Given the description of an element on the screen output the (x, y) to click on. 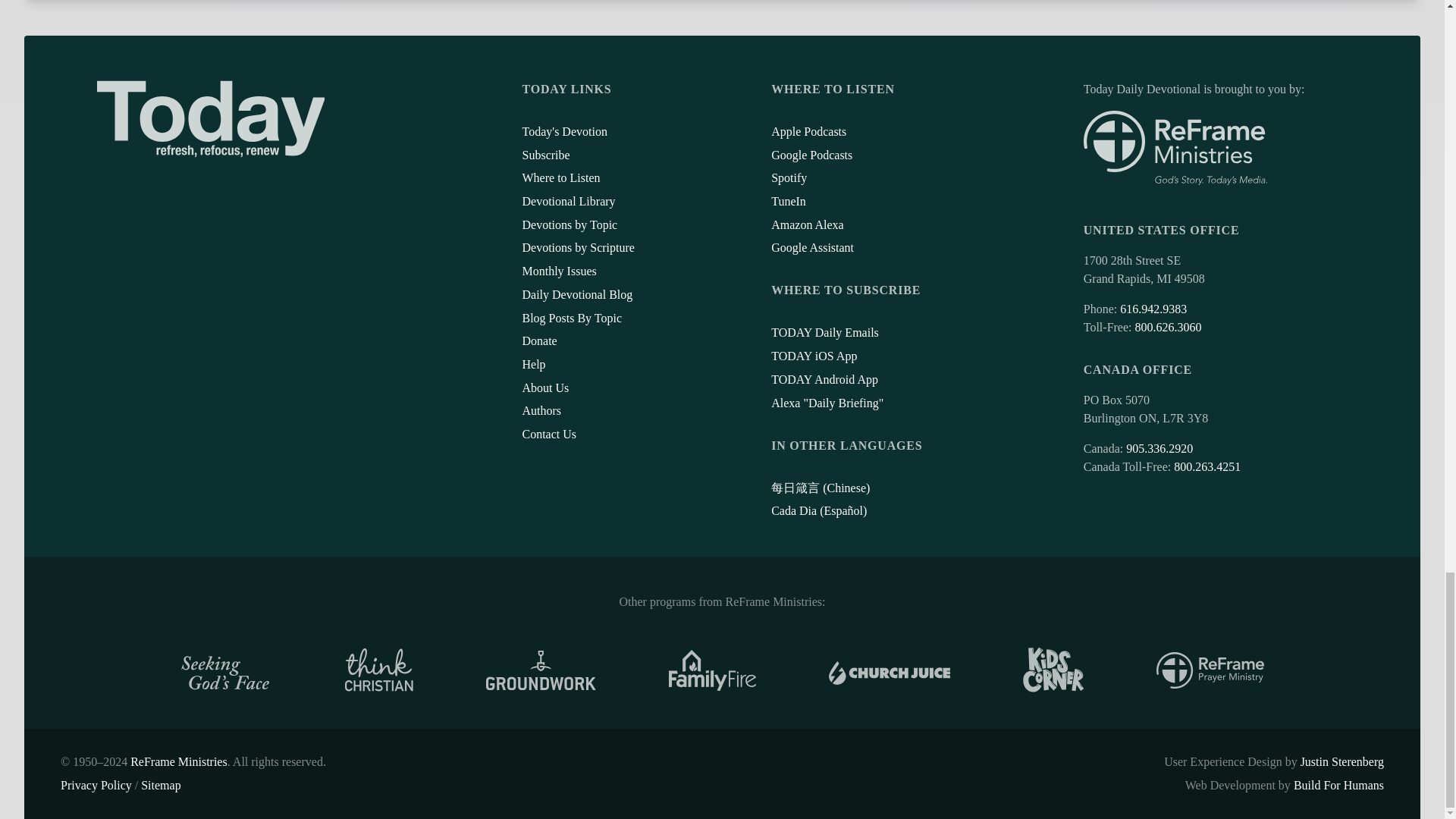
Subscribe (545, 154)
Monthly Issues (558, 270)
Help (532, 364)
Devotions by Topic (569, 224)
Daily Devotional Blog (576, 294)
Prayer Ministry (1209, 669)
Where to Listen (560, 177)
Devotional Library (567, 201)
